Given the description of an element on the screen output the (x, y) to click on. 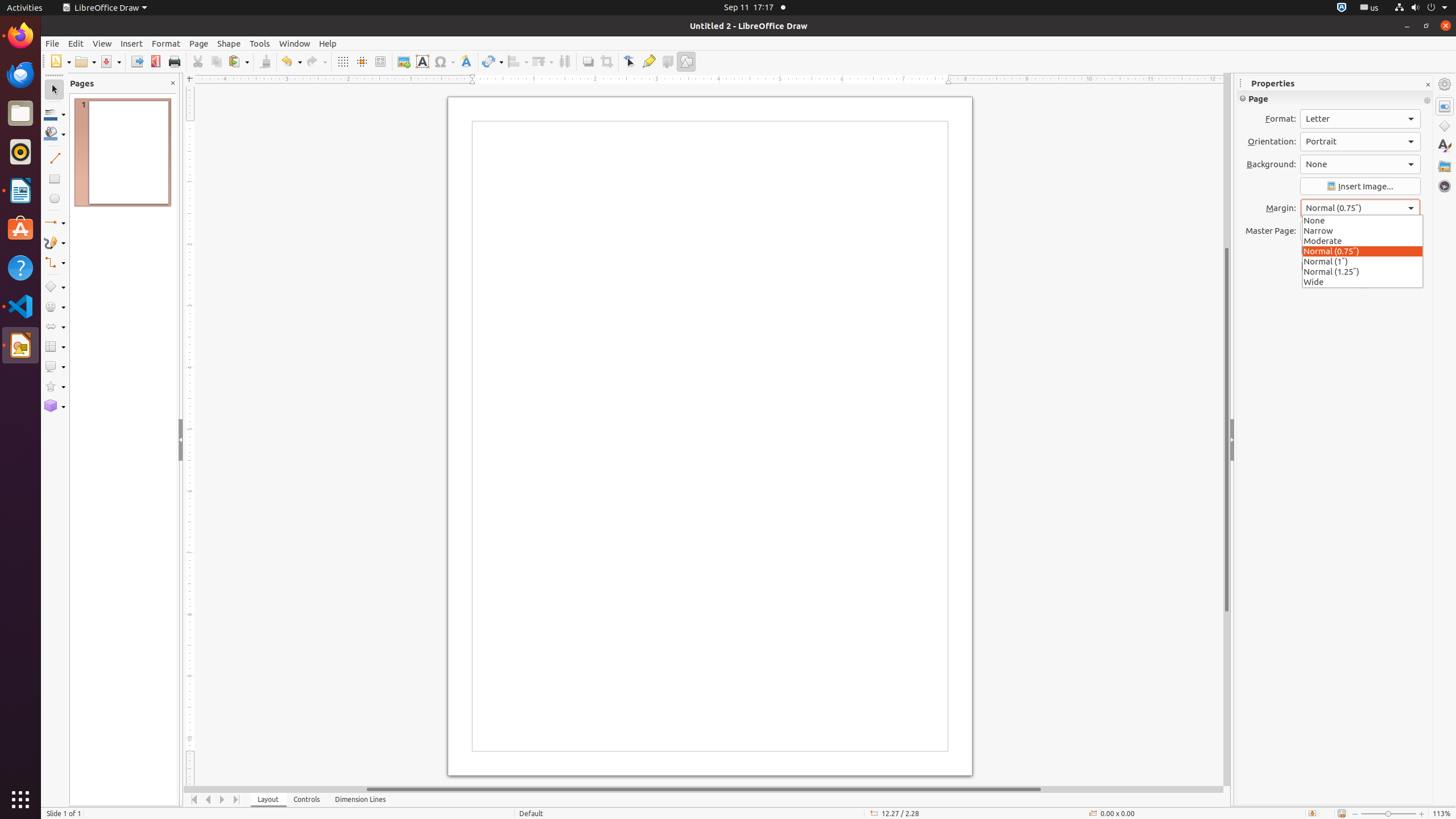
Move Right Element type: push-button (222, 799)
Glue Points Element type: push-button (648, 61)
